Given the description of an element on the screen output the (x, y) to click on. 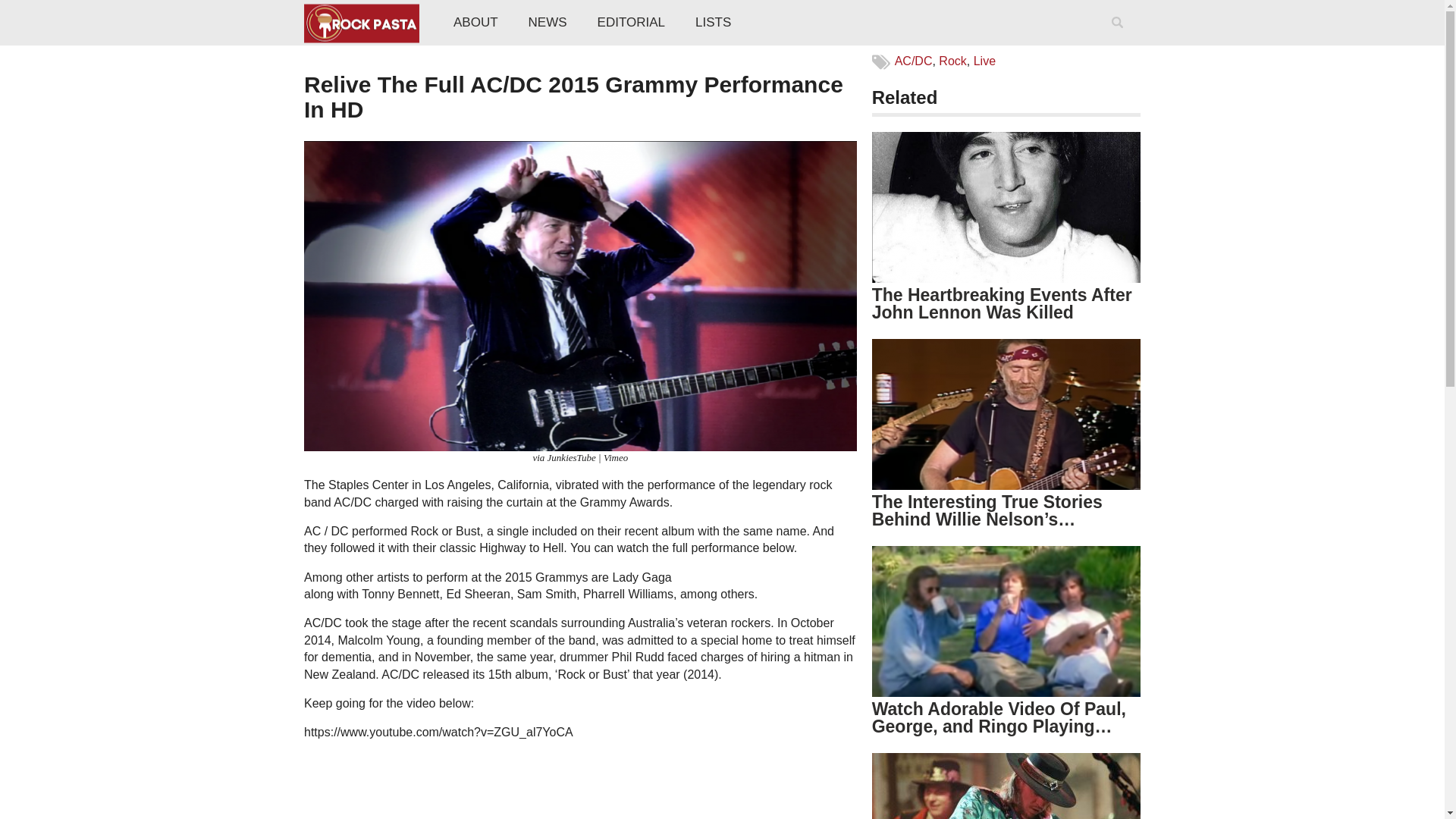
Search (1120, 42)
Search (1120, 42)
The Heartbreaking Events After John Lennon Was Killed (1002, 303)
Rock (952, 60)
ABOUT (475, 22)
NEWS (547, 22)
EDITORIAL (630, 22)
LISTS (712, 22)
Live (984, 60)
Search (1120, 42)
